Given the description of an element on the screen output the (x, y) to click on. 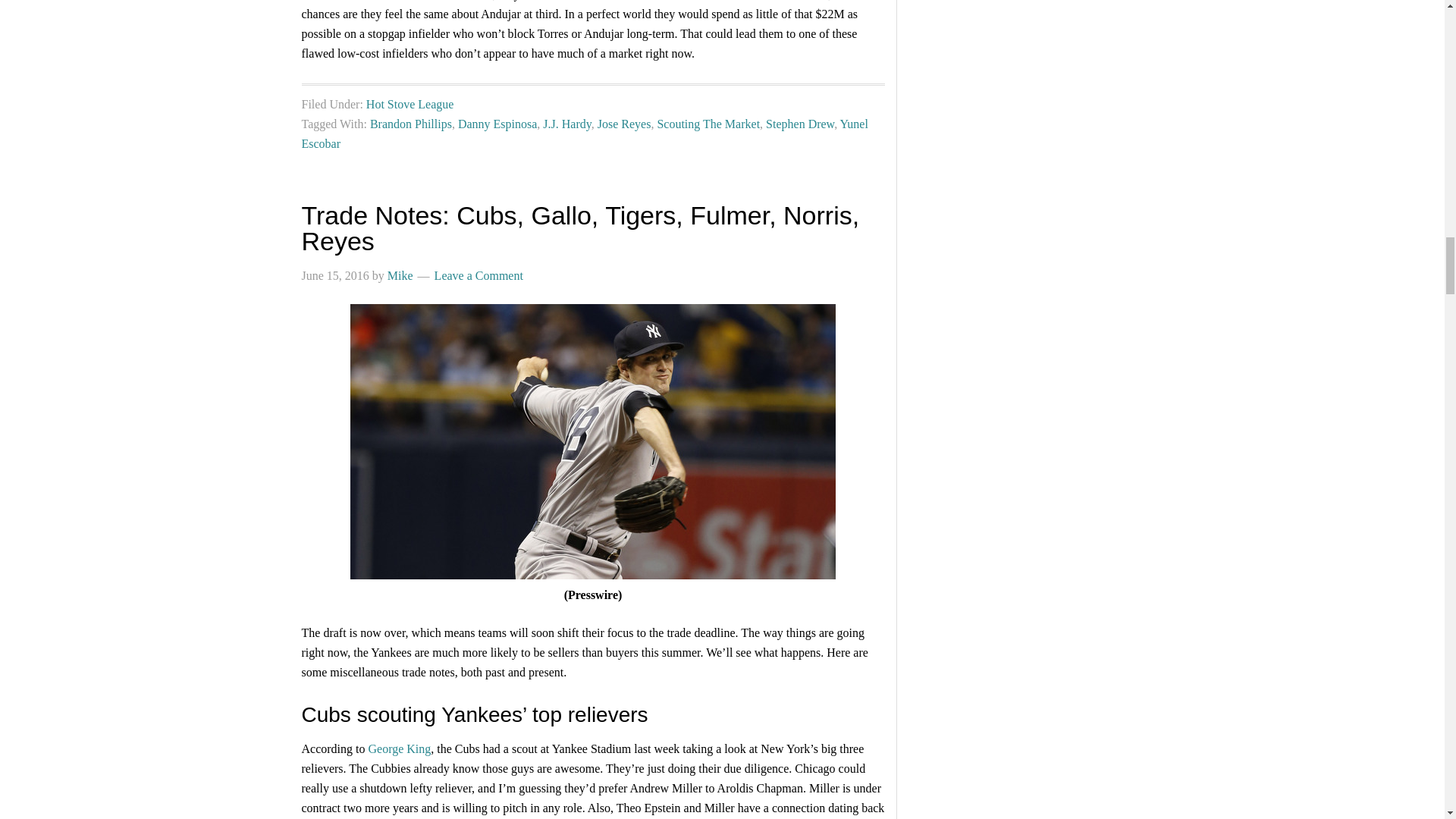
Stephen Drew (799, 123)
Jose Reyes (623, 123)
Trade Notes: Cubs, Gallo, Tigers, Fulmer, Norris, Reyes (580, 227)
J.J. Hardy (567, 123)
Scouting The Market (708, 123)
Yunel Escobar (584, 133)
Hot Stove League (410, 103)
Leave a Comment (477, 275)
Danny Espinosa (497, 123)
Brandon Phillips (410, 123)
